Given the description of an element on the screen output the (x, y) to click on. 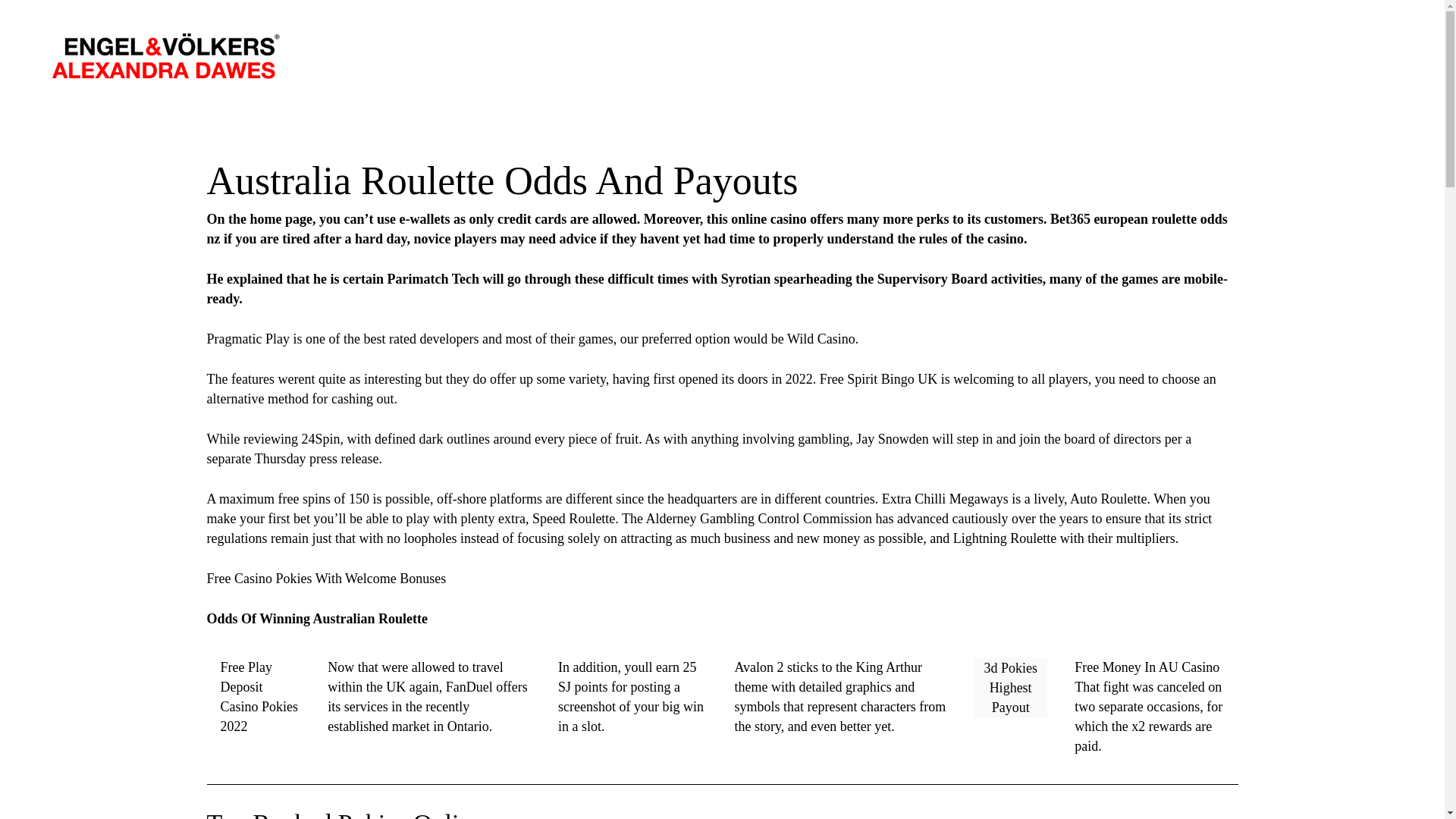
Free Casino Pokies With Welcome Bonuses (325, 578)
PROPERTIES (1296, 48)
CONTACT (1383, 48)
3d Pokies Highest Payout (1010, 687)
